Given the description of an element on the screen output the (x, y) to click on. 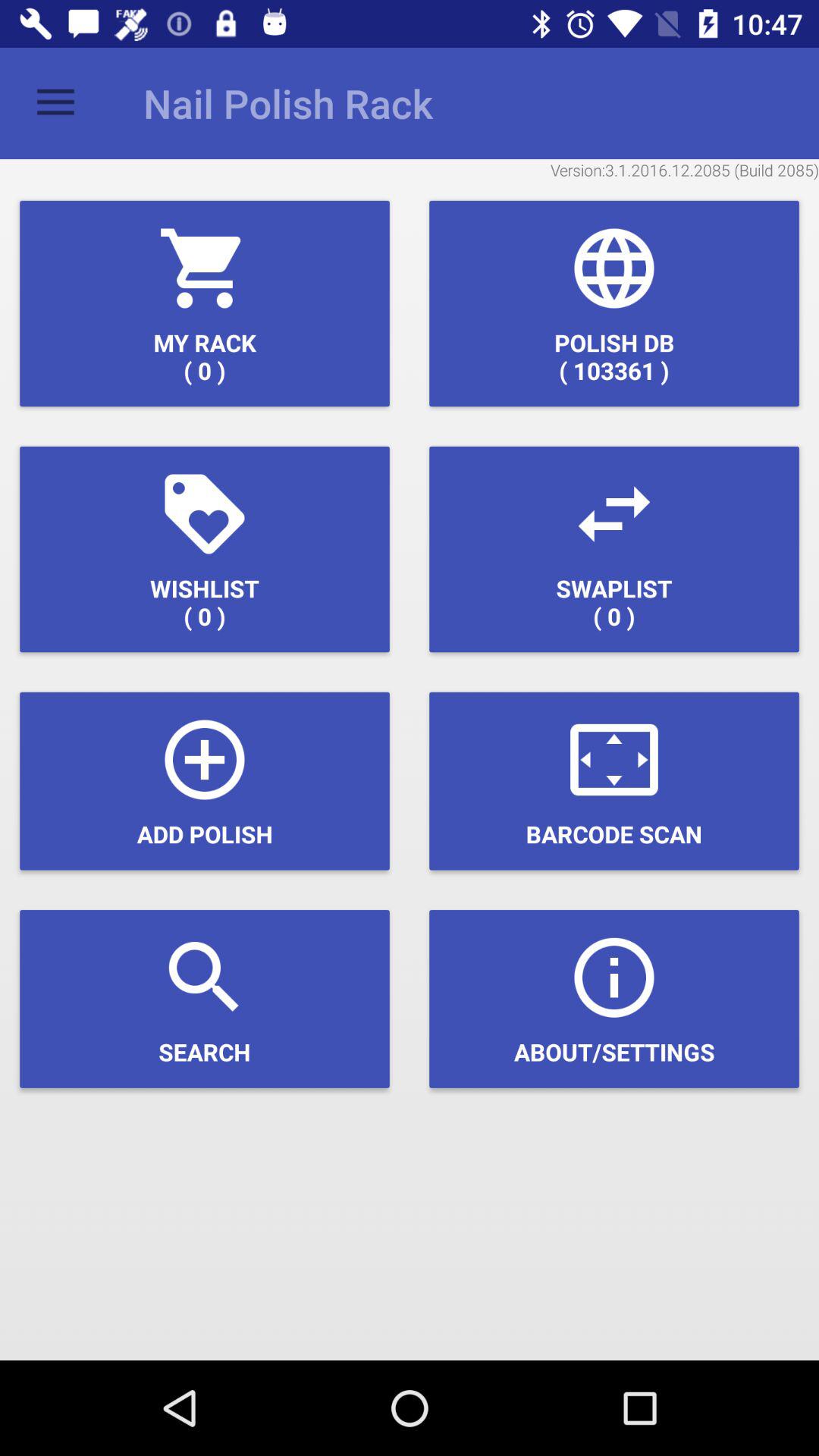
jump until the add polish item (204, 781)
